Given the description of an element on the screen output the (x, y) to click on. 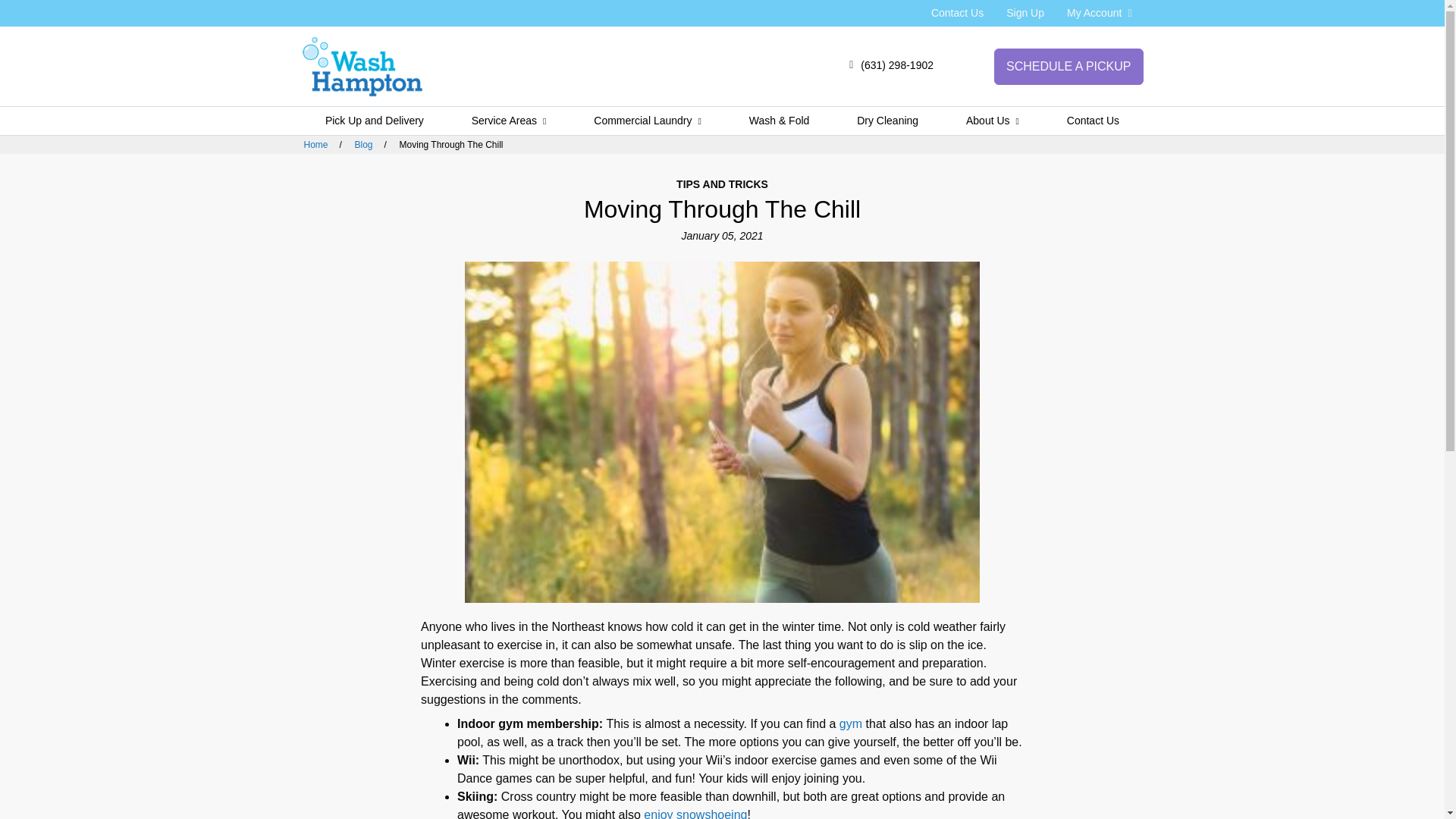
Service Areas (508, 121)
Sign Up (1024, 12)
Pick Up and Delivery (374, 121)
Contact Us (957, 12)
About Us (992, 121)
Contact Us (1092, 121)
Contact Us (957, 12)
SCHEDULE A PICKUP (1068, 66)
Commercial Laundry (647, 121)
Dry Cleaning (887, 121)
Service Areas (508, 121)
Sign Up (1024, 12)
My Account (1099, 12)
Schedule a Pickup (1068, 66)
My Account (1099, 12)
